Given the description of an element on the screen output the (x, y) to click on. 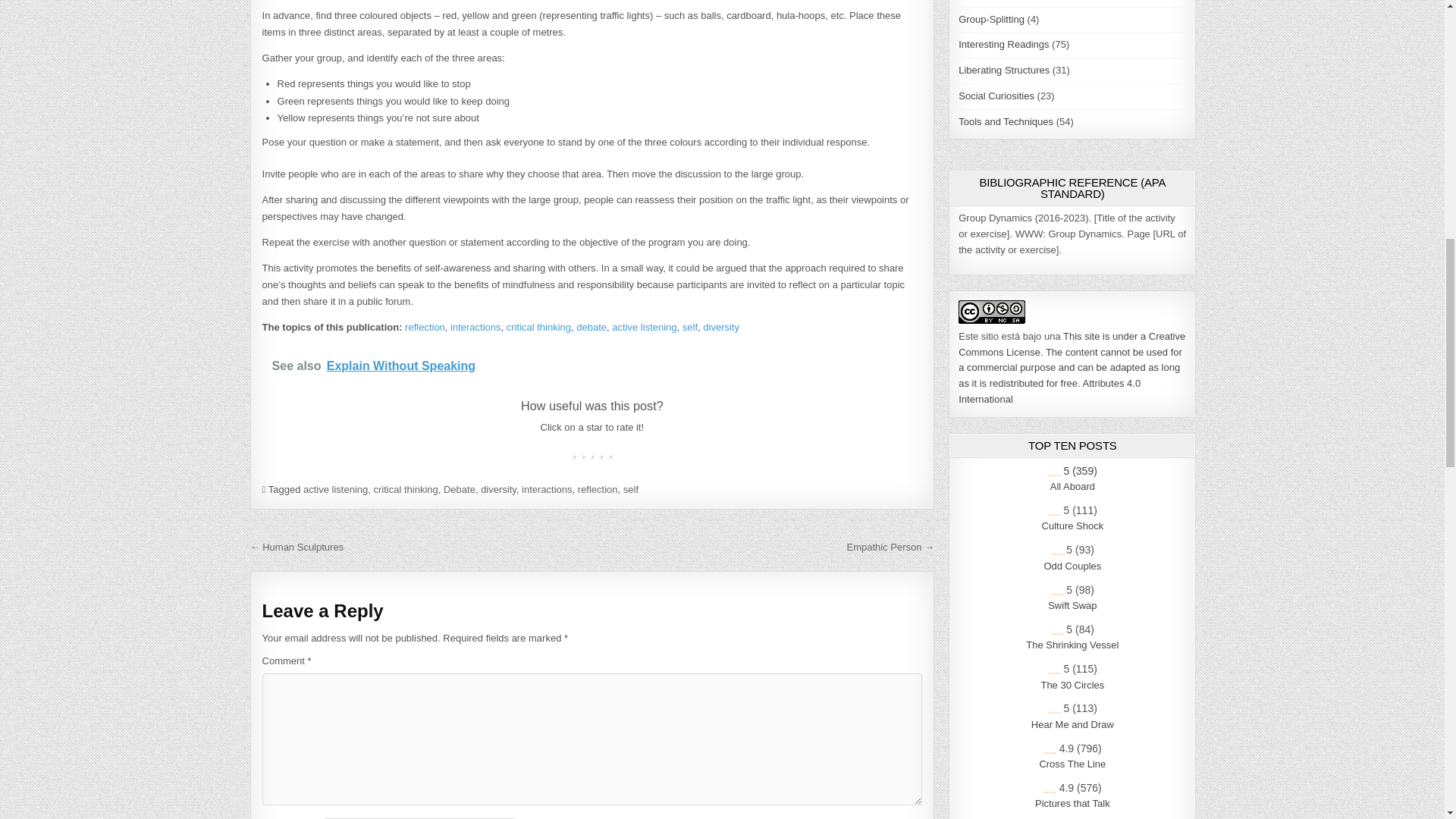
reflection (424, 326)
interactions (474, 326)
critical thinking (538, 326)
self (631, 489)
See also  Explain Without Speaking (592, 365)
self (689, 326)
critical thinking (405, 489)
active listening (335, 489)
diversity (498, 489)
interactions (546, 489)
